Given the description of an element on the screen output the (x, y) to click on. 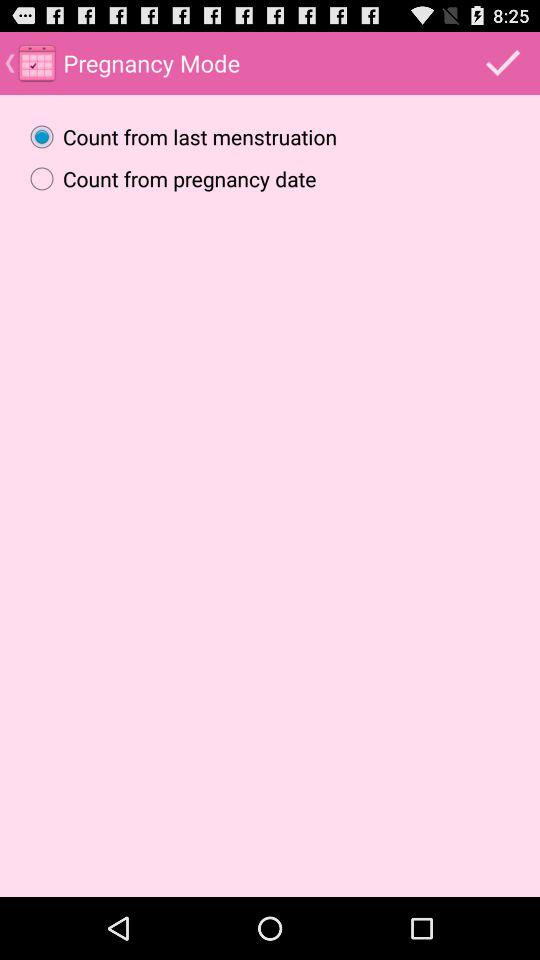
select this mode (503, 62)
